Given the description of an element on the screen output the (x, y) to click on. 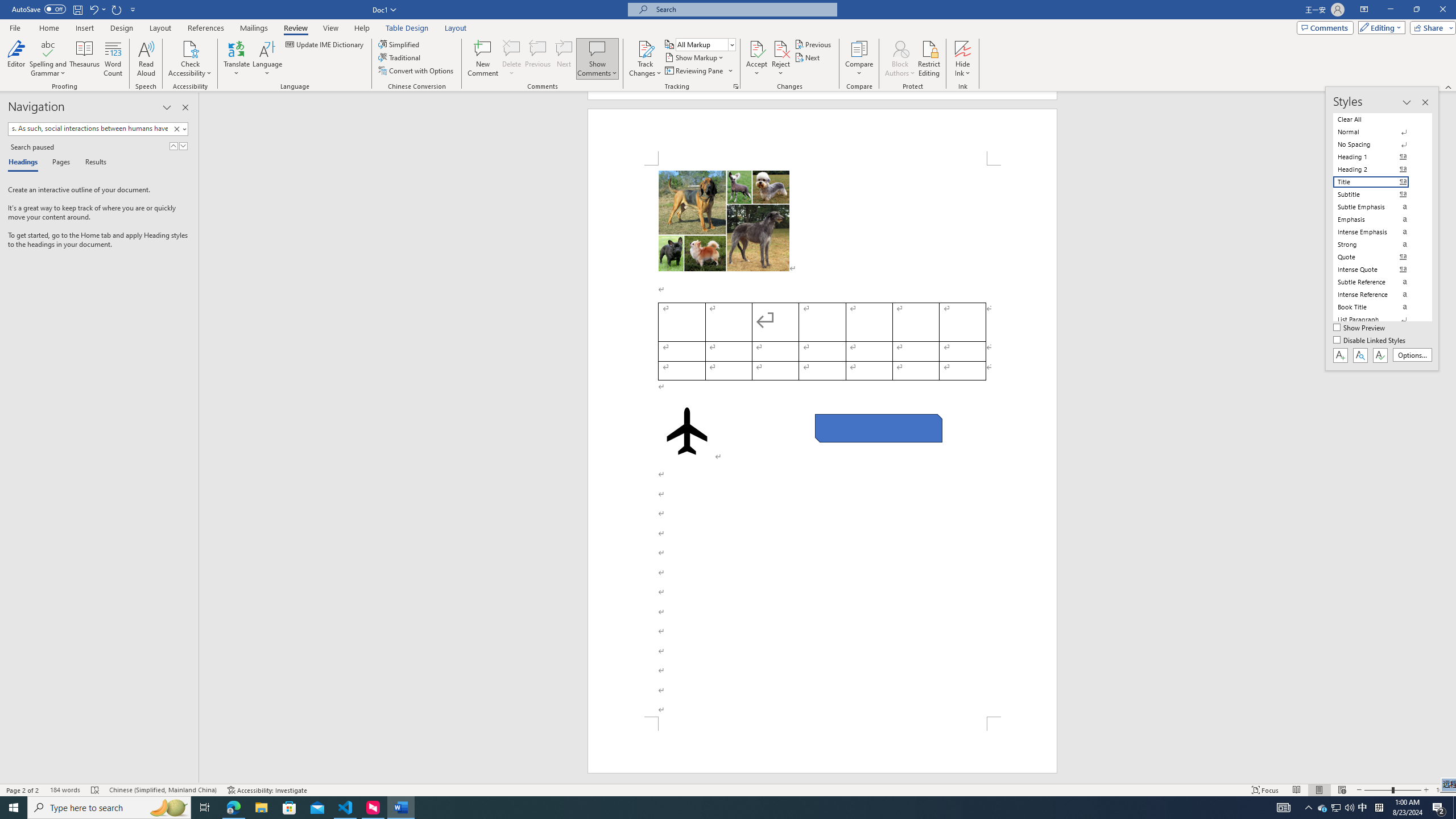
Previous (813, 44)
Subtle Reference (1377, 282)
No Spacing (1377, 144)
Track Changes (644, 58)
Reject (780, 58)
